Given the description of an element on the screen output the (x, y) to click on. 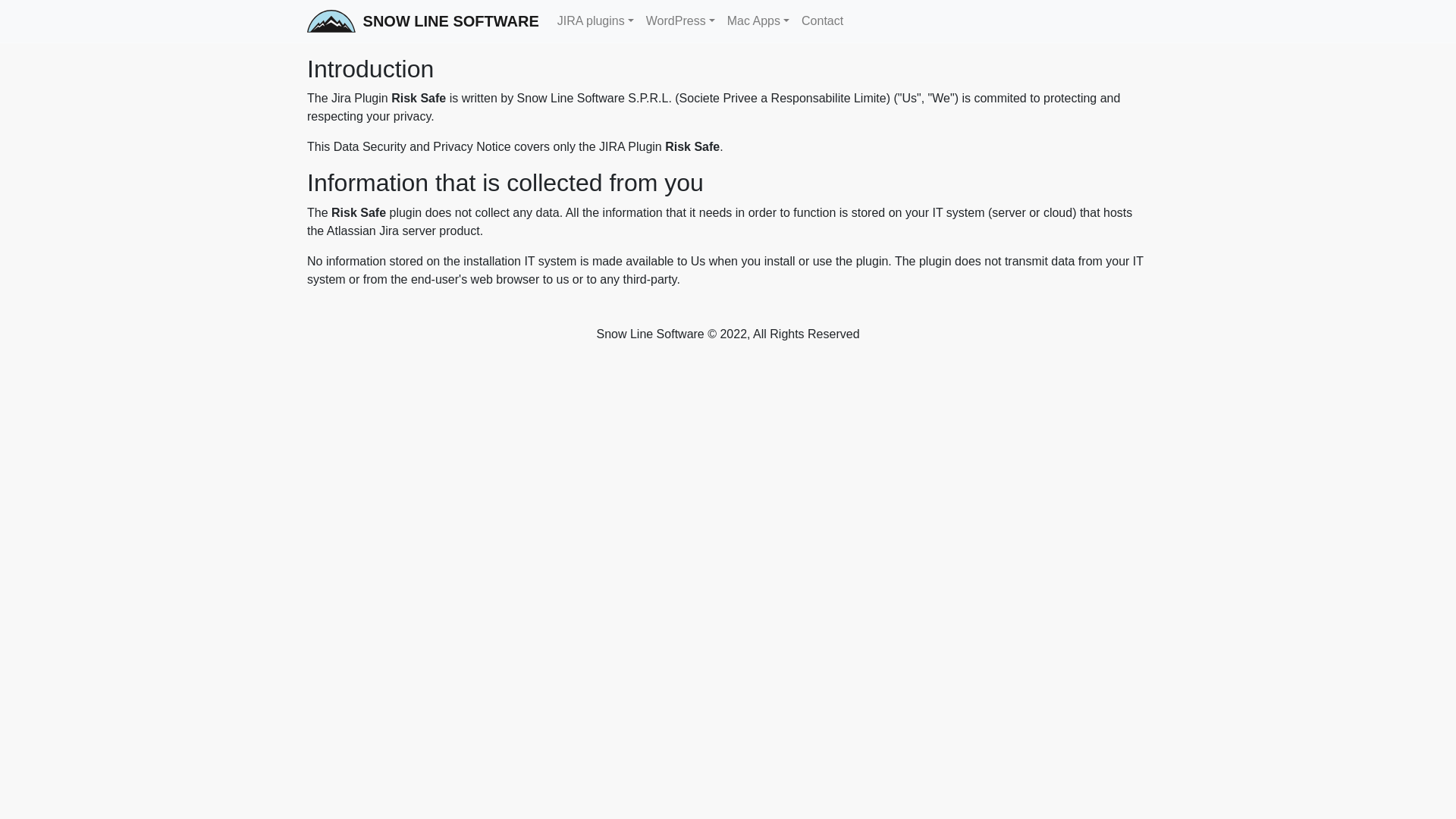
JIRA plugins (595, 20)
SNOW LINE SOFTWARE (422, 20)
WordPress (680, 20)
Contact (821, 20)
Mac Apps (757, 20)
